Given the description of an element on the screen output the (x, y) to click on. 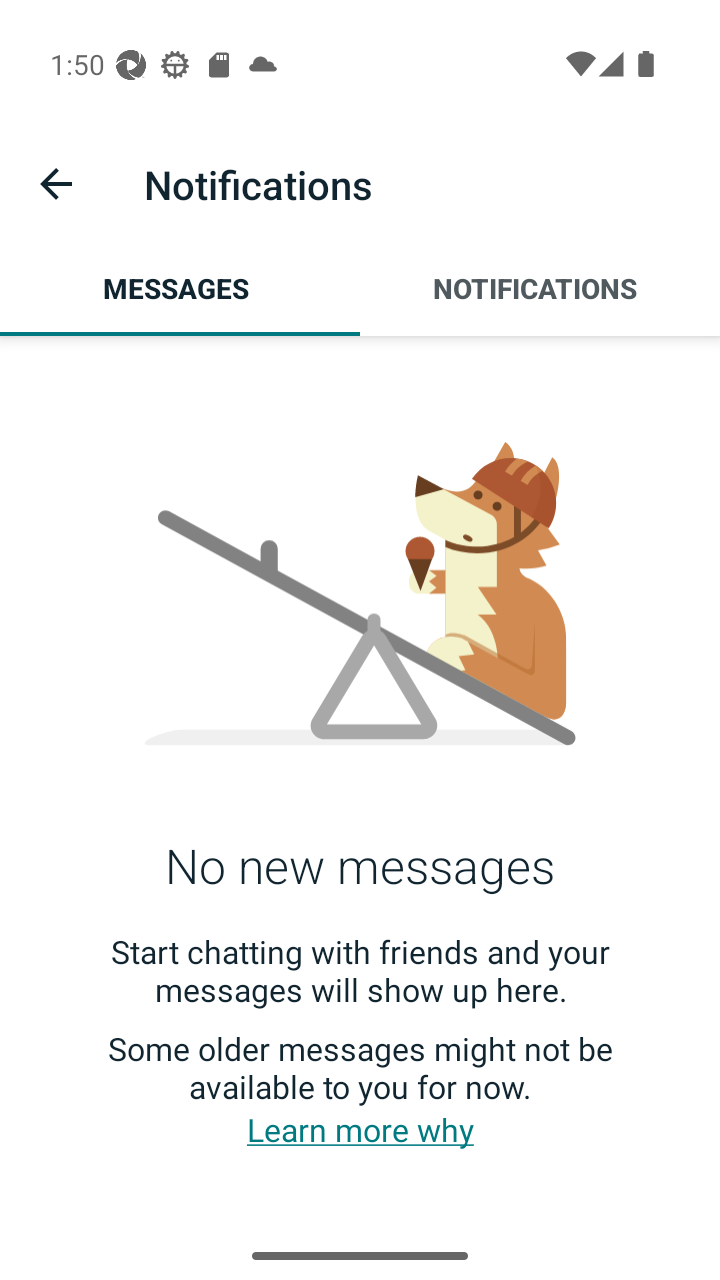
Notifications NOTIFICATIONS (540, 287)
